Given the description of an element on the screen output the (x, y) to click on. 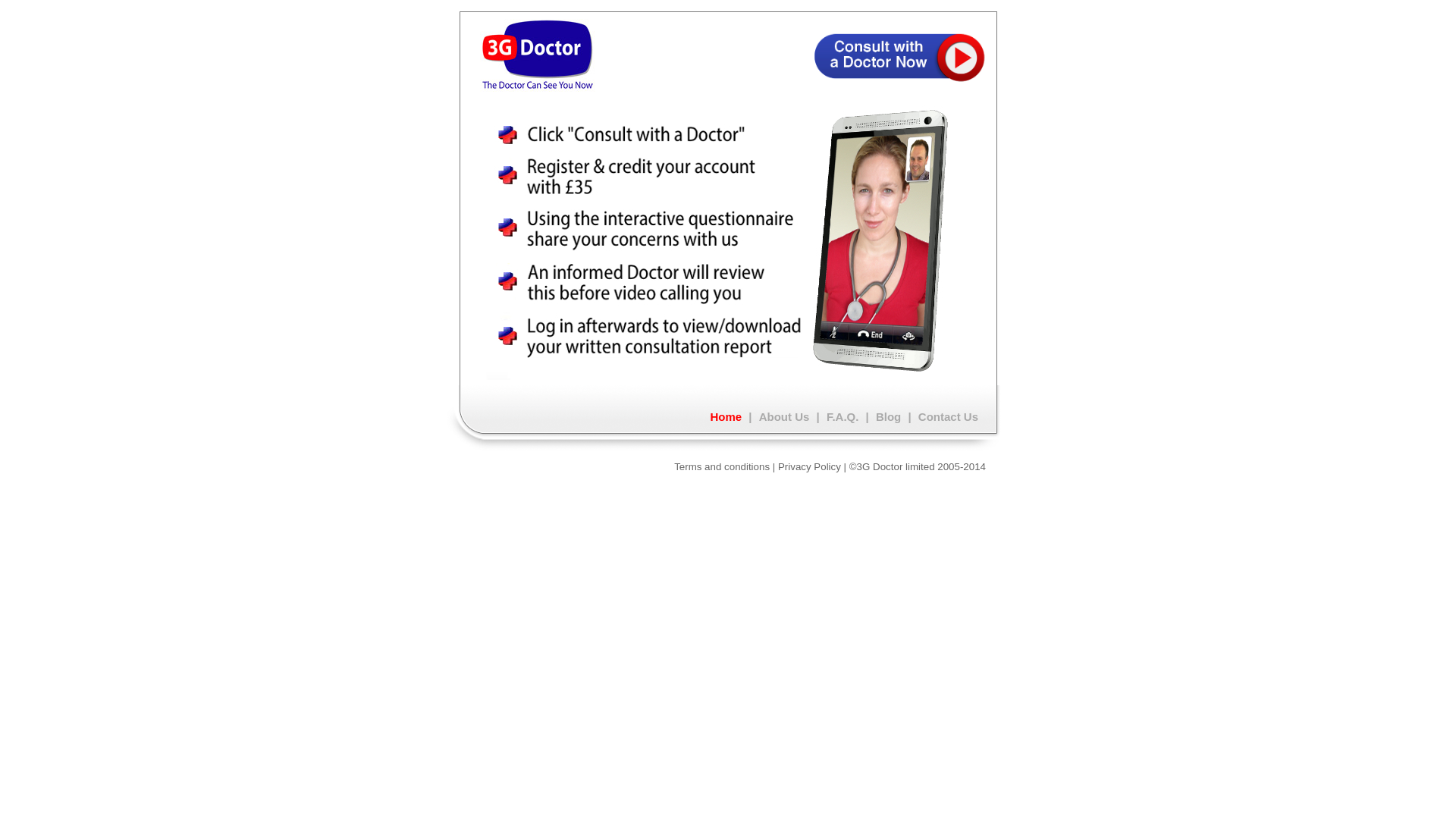
F.A.Q. Element type: text (842, 416)
Blog Element type: text (887, 416)
Contact Us Element type: text (948, 416)
About Us Element type: text (784, 416)
Terms and conditions Element type: text (721, 466)
Privacy Policy Element type: text (809, 466)
Home Element type: text (725, 416)
